Given the description of an element on the screen output the (x, y) to click on. 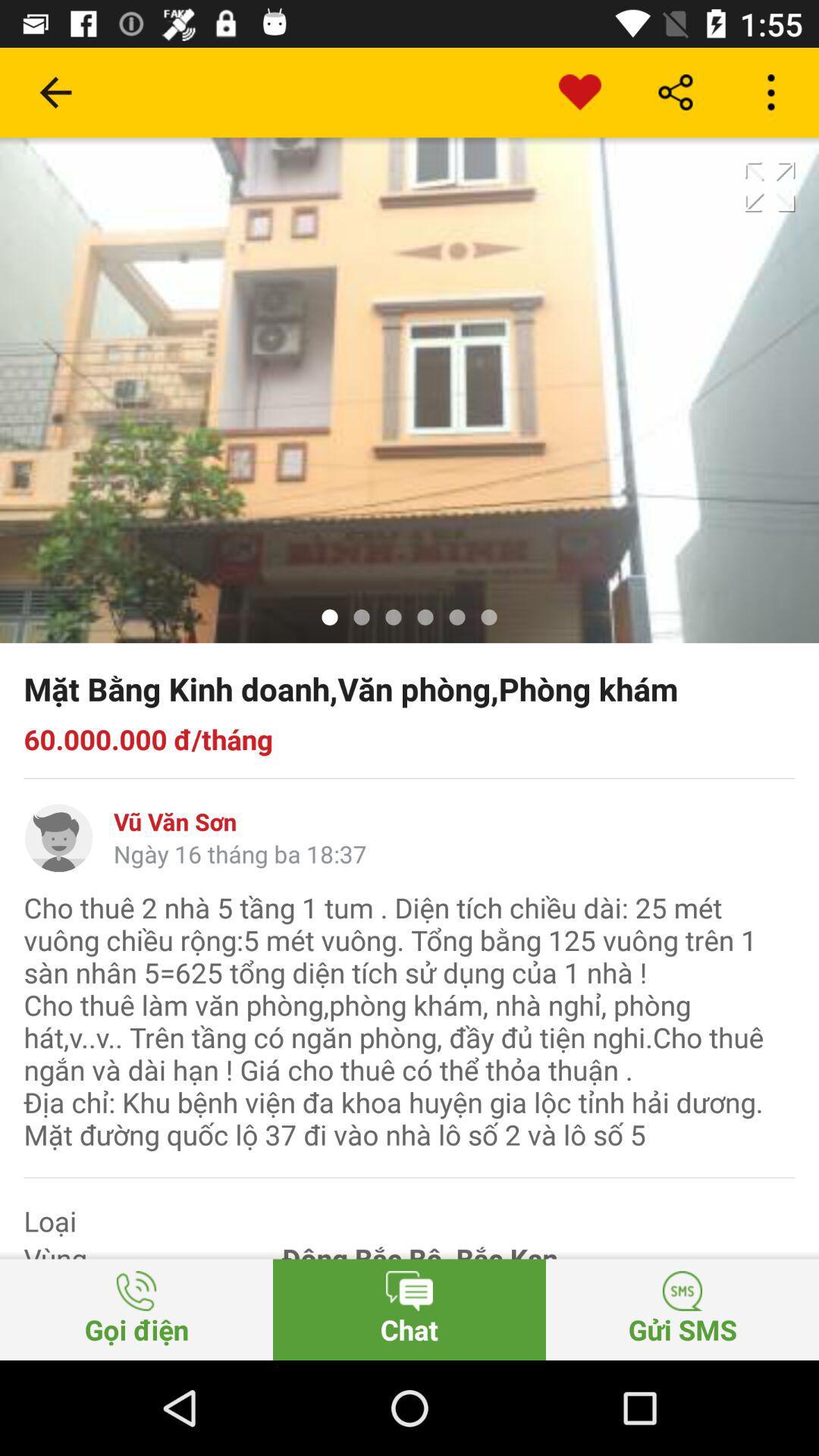
tap icon next to the chat item (136, 1309)
